Given the description of an element on the screen output the (x, y) to click on. 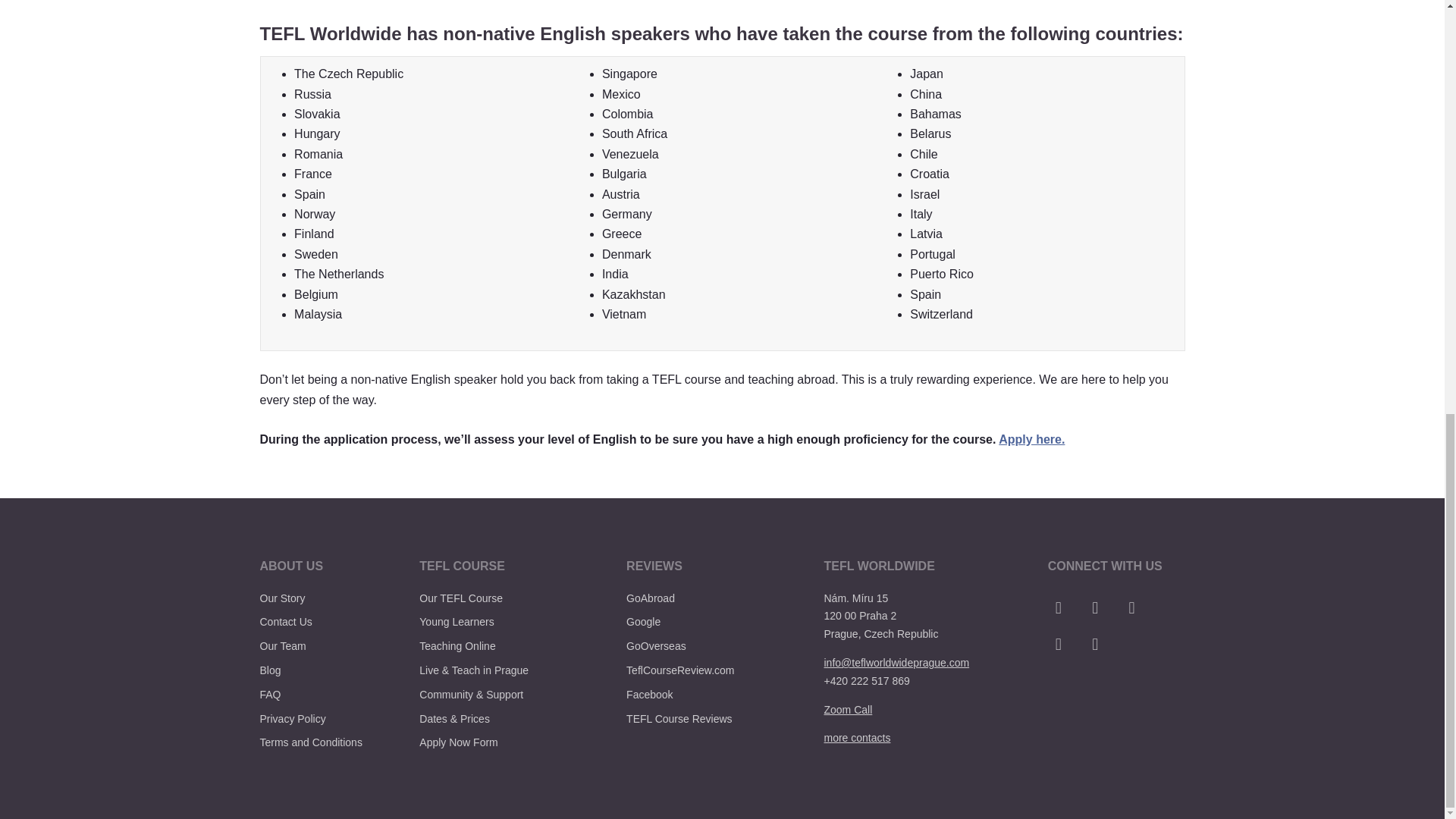
Our Team (282, 645)
Our Story (281, 598)
Apply here. (1031, 439)
Blog (270, 670)
Contact Us (285, 621)
